Given the description of an element on the screen output the (x, y) to click on. 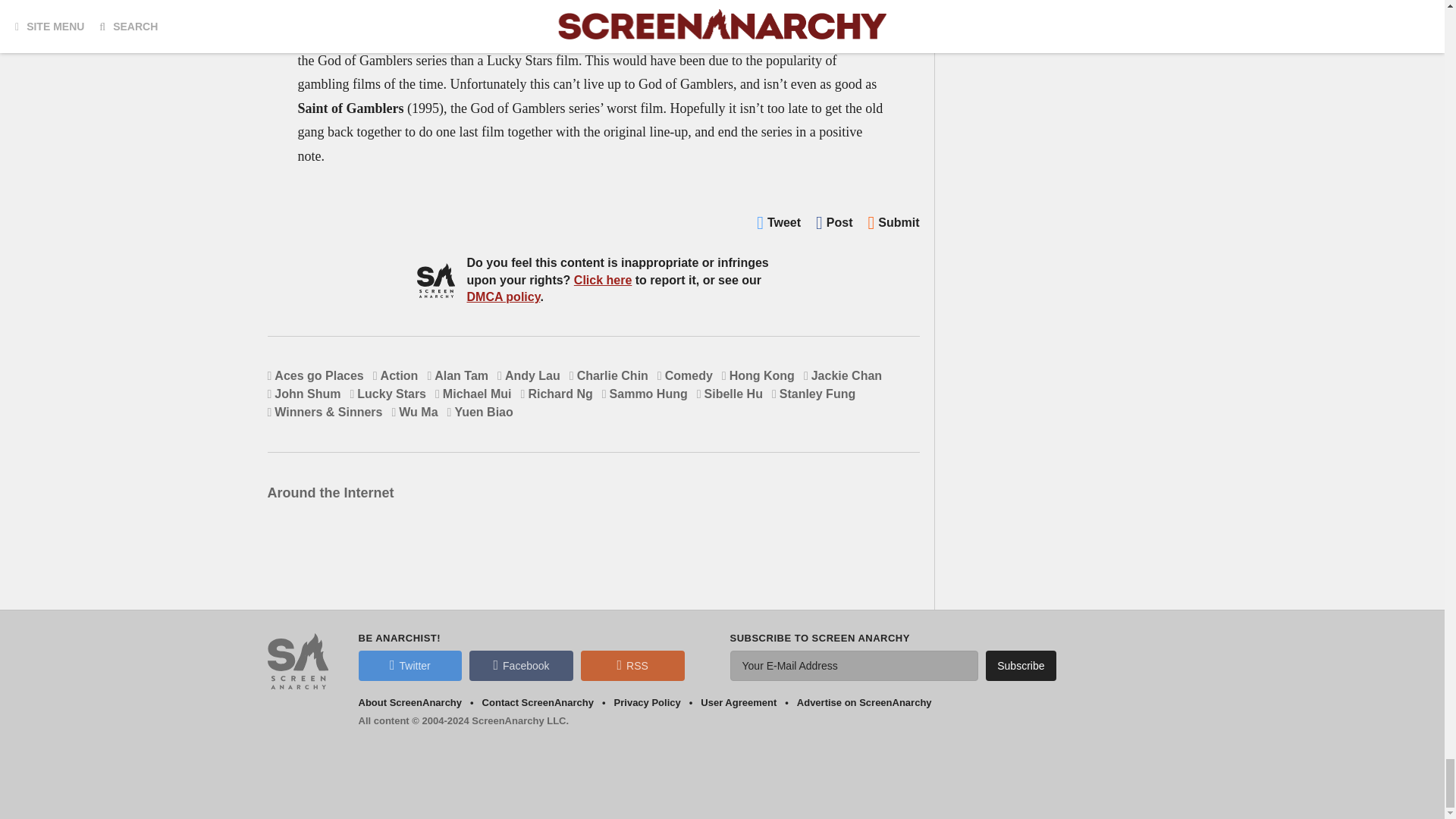
Subscribe (1020, 665)
